Given the description of an element on the screen output the (x, y) to click on. 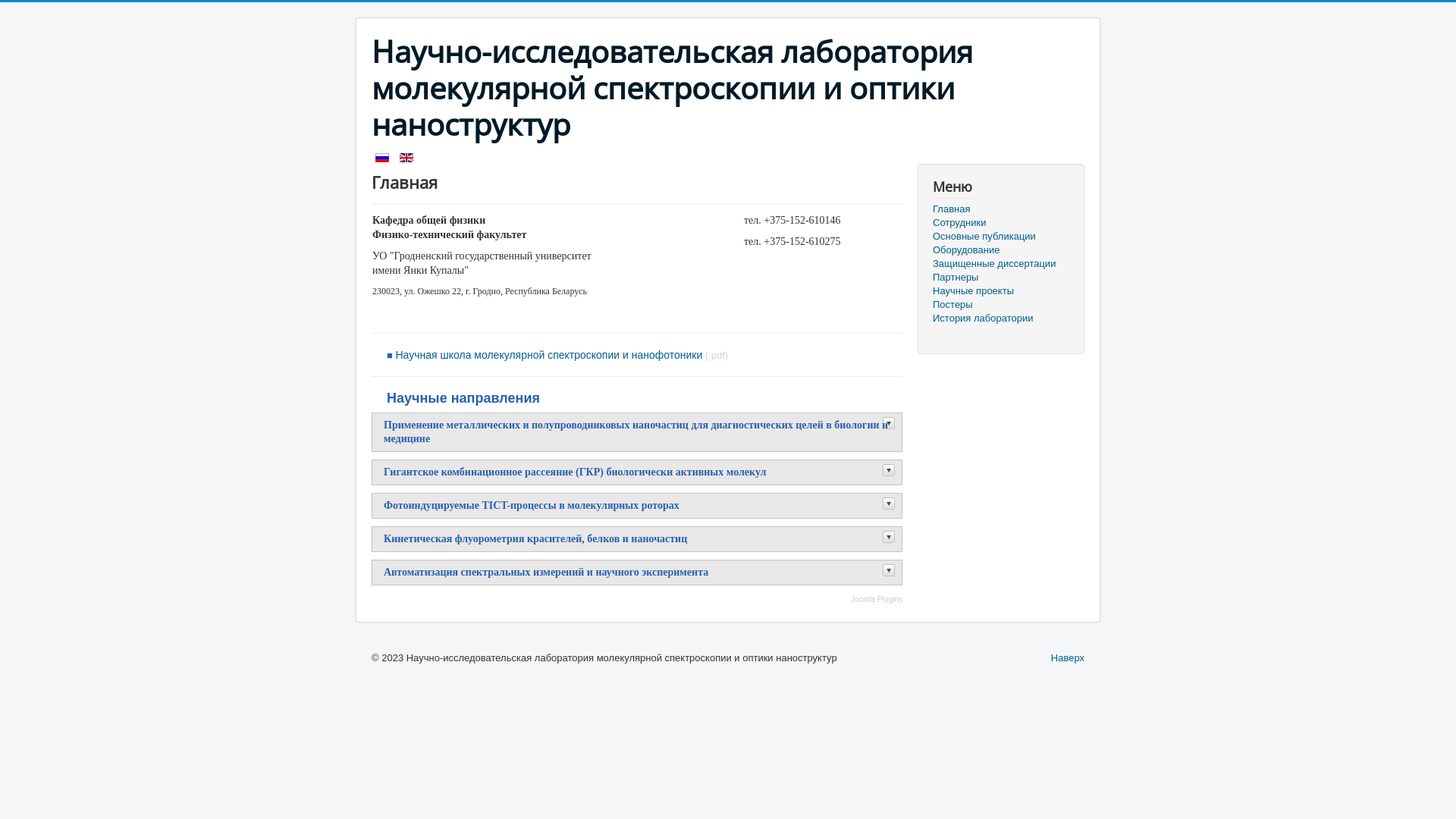
Joomla Plugins Element type: text (636, 599)
English (UK) Element type: hover (406, 157)
